Given the description of an element on the screen output the (x, y) to click on. 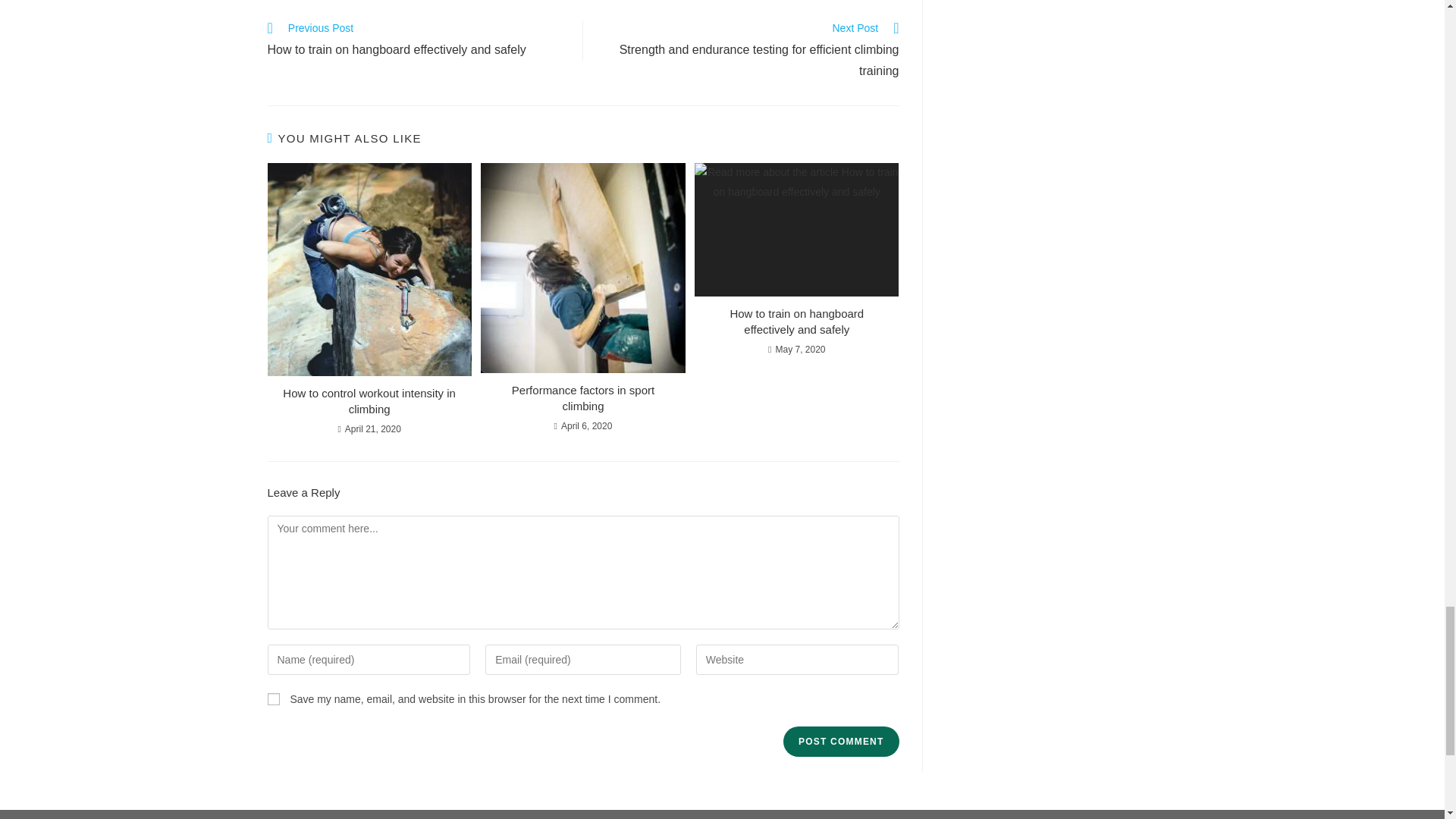
How to control workout intensity in climbing (368, 400)
Performance factors in sport climbing (582, 398)
Post Comment (840, 741)
Post Comment (840, 741)
How to train on hangboard effectively and safely (796, 321)
yes (272, 698)
